Given the description of an element on the screen output the (x, y) to click on. 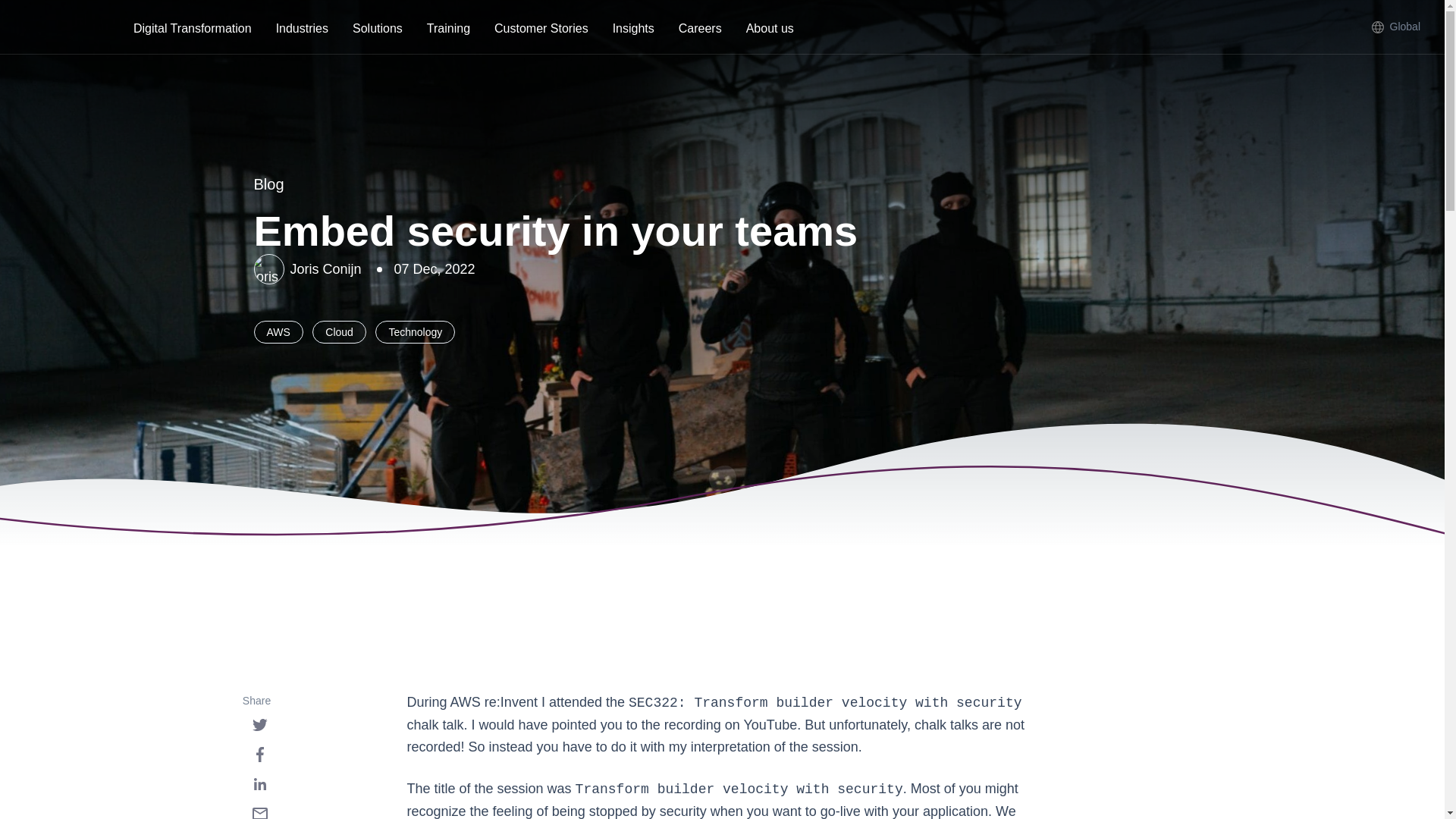
Digital Transformation (191, 29)
Industries (301, 29)
About us (769, 29)
Careers (699, 29)
Customer Stories (540, 29)
Insights (632, 29)
Training (447, 29)
Solutions (377, 29)
